Given the description of an element on the screen output the (x, y) to click on. 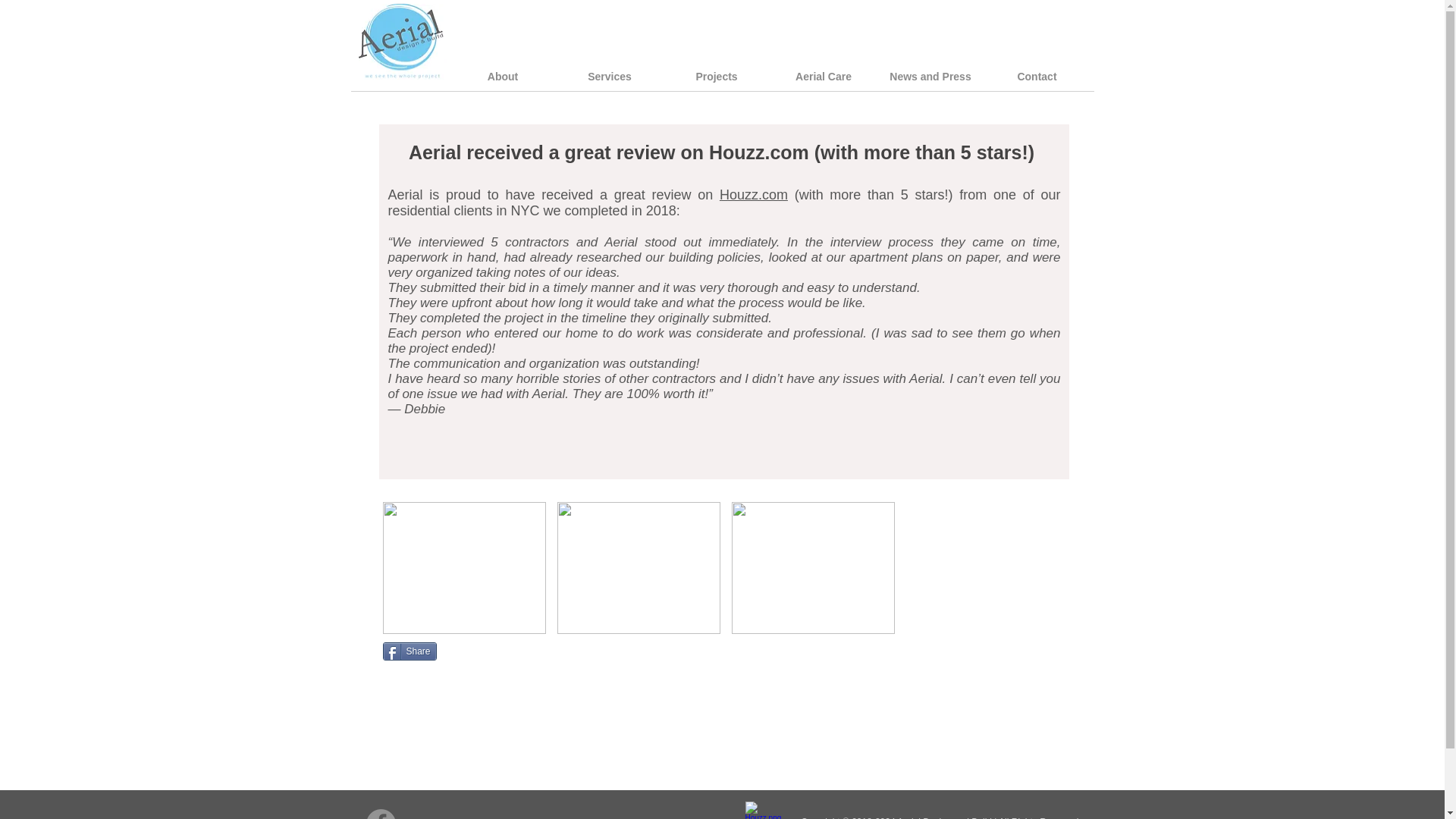
About (502, 81)
Share (408, 651)
Contact (1037, 81)
News and Press (930, 81)
Share (408, 651)
Aerial Care (823, 81)
Projects (716, 81)
Services (609, 81)
Houzz.com (753, 194)
